Given the description of an element on the screen output the (x, y) to click on. 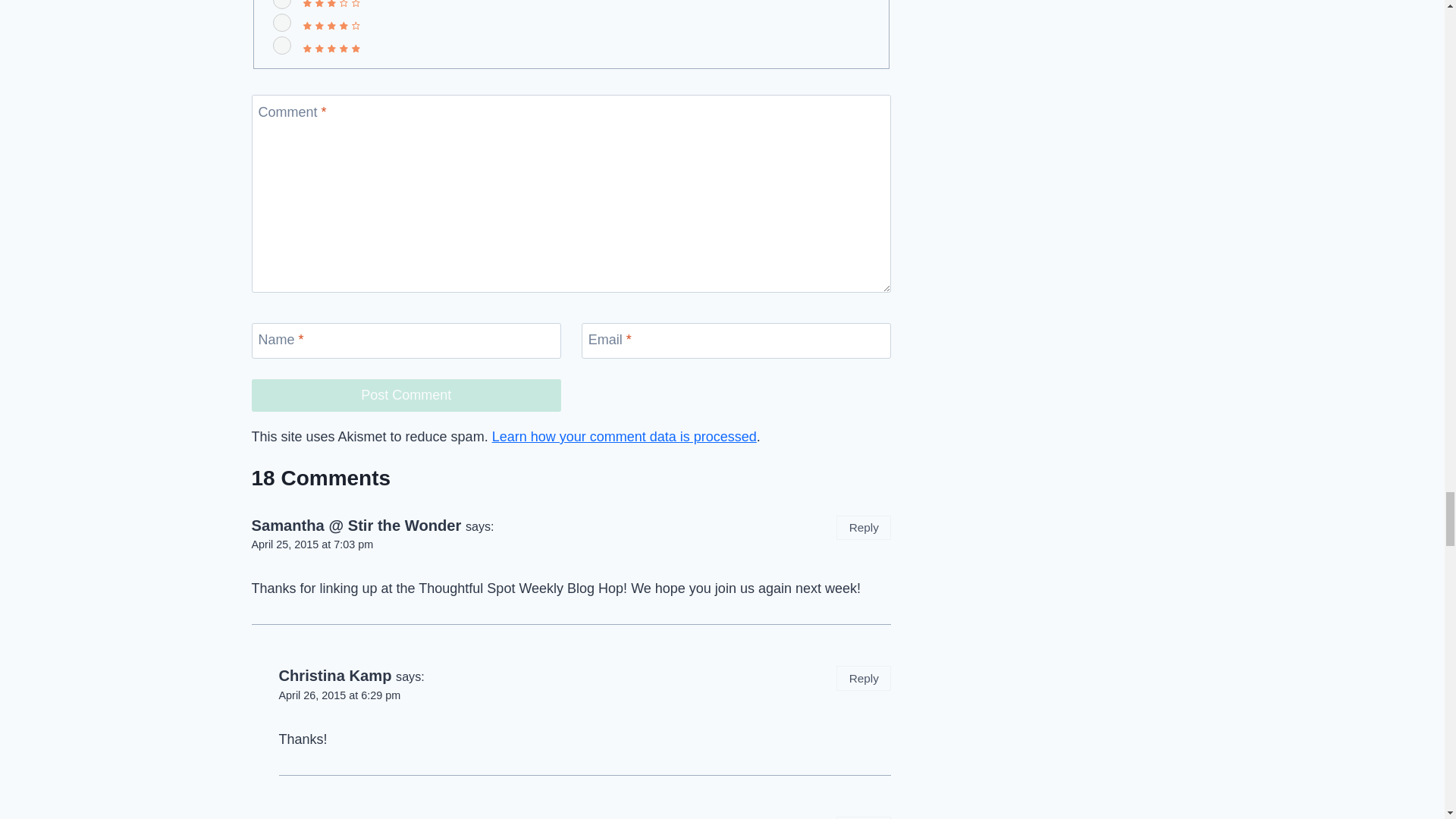
3 (282, 4)
Post Comment (405, 395)
5 (282, 45)
4 (282, 22)
